Given the description of an element on the screen output the (x, y) to click on. 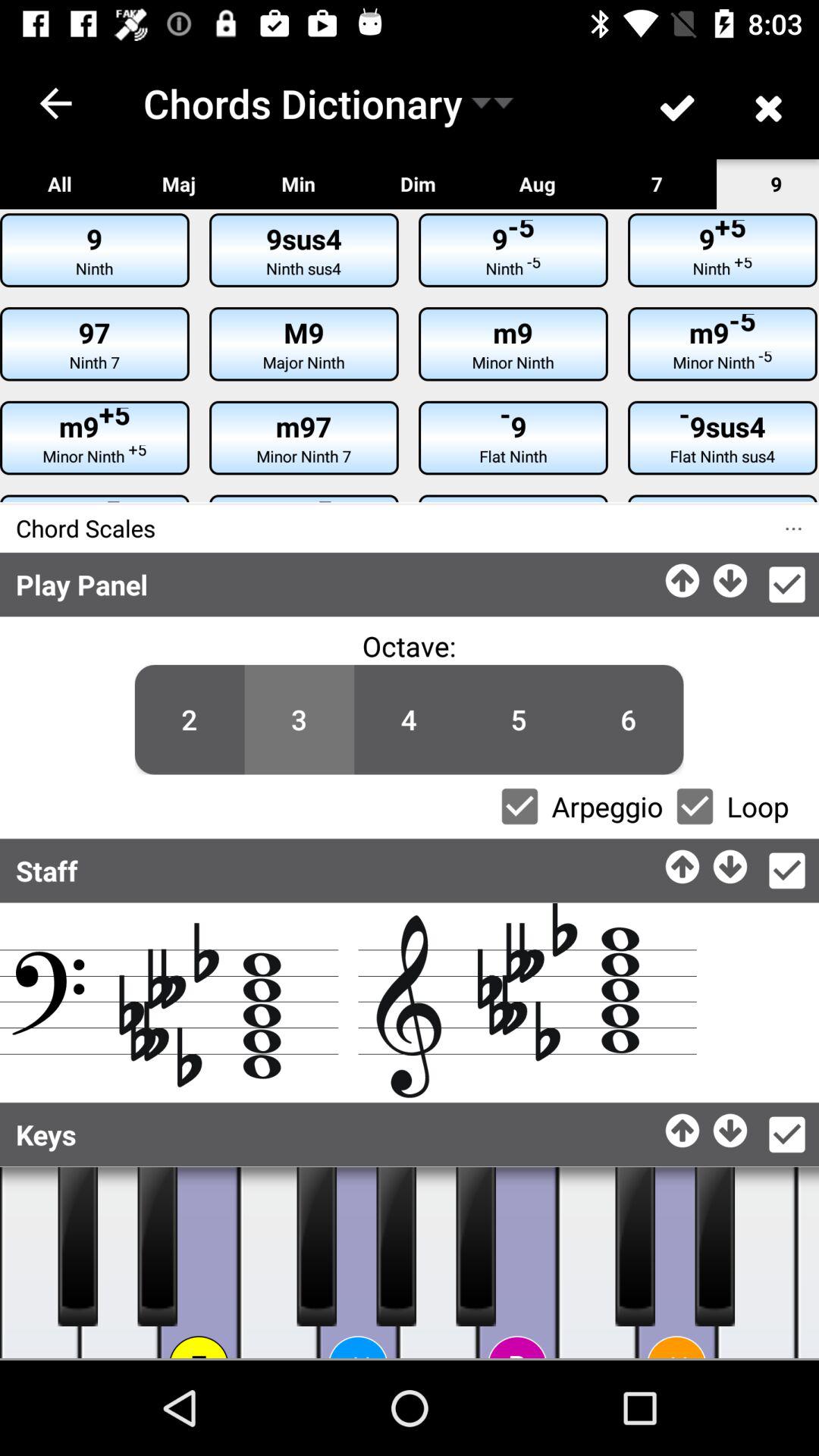
music board key (157, 1246)
